Given the description of an element on the screen output the (x, y) to click on. 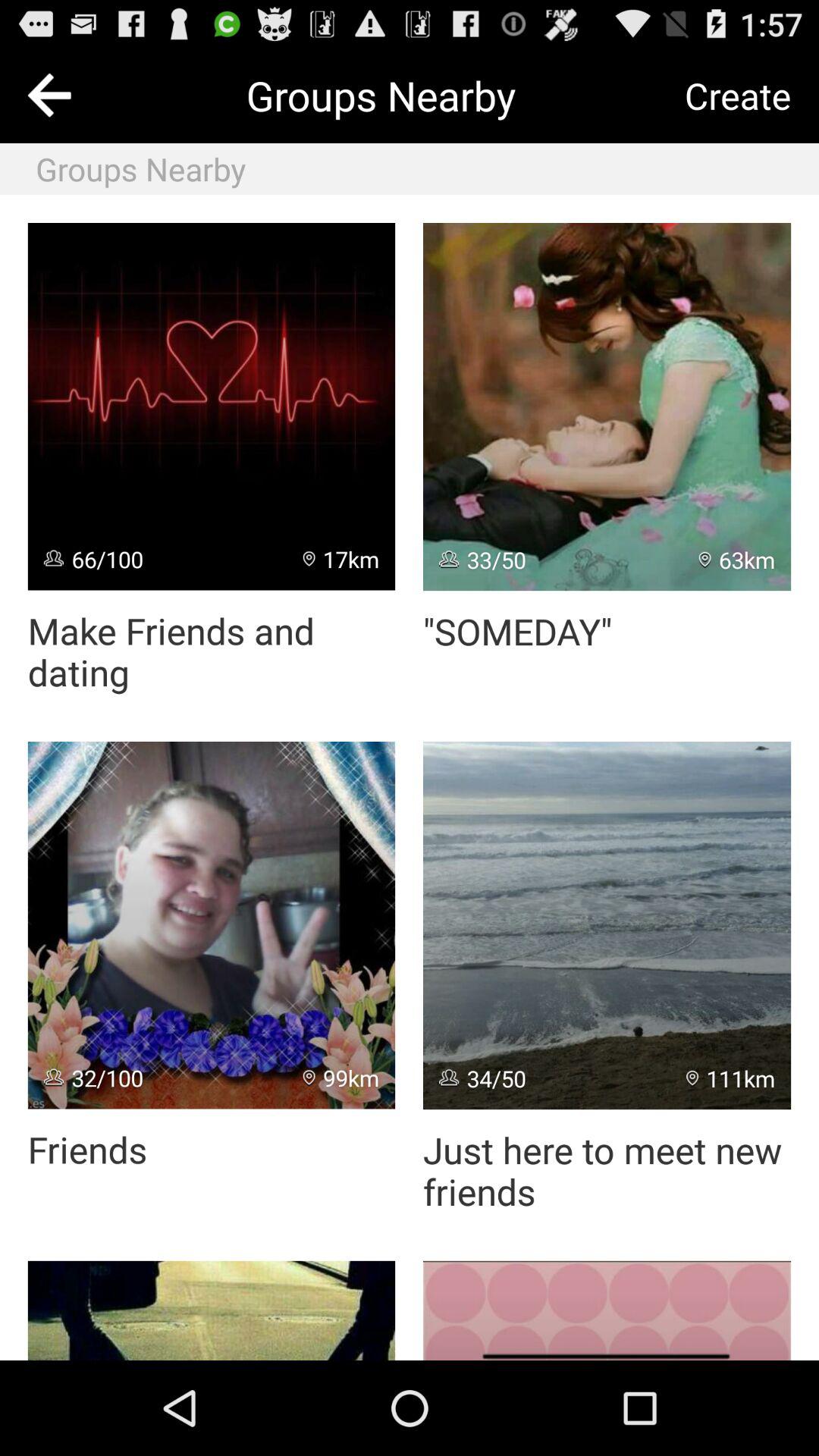
press the app above make friends and app (211, 406)
